Given the description of an element on the screen output the (x, y) to click on. 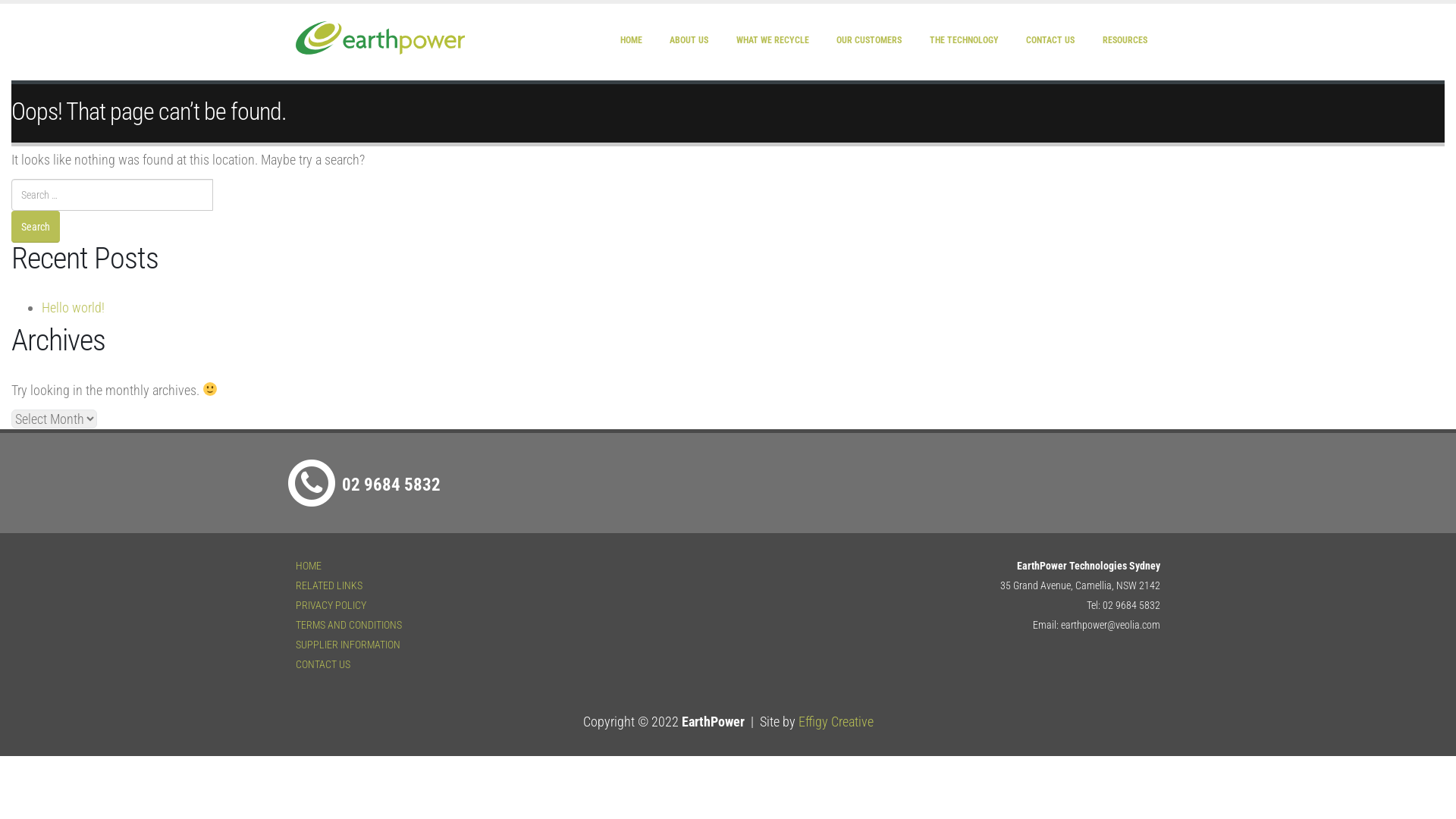
CONTACT US Element type: text (1050, 40)
RESOURCES Element type: text (1124, 40)
HOME Element type: text (631, 40)
HOME Element type: text (308, 565)
Effigy Creative Element type: text (834, 721)
SUPPLIER INFORMATION Element type: text (347, 644)
TERMS AND CONDITIONS Element type: text (348, 624)
Hello world! Element type: text (72, 307)
Search Element type: text (35, 226)
ABOUT US Element type: text (688, 40)
CONTACT US Element type: text (322, 664)
RELATED LINKS Element type: text (328, 585)
PRIVACY POLICY Element type: text (330, 605)
THE TECHNOLOGY Element type: text (963, 40)
WHAT WE RECYCLE Element type: text (772, 40)
OUR CUSTOMERS Element type: text (868, 40)
